Given the description of an element on the screen output the (x, y) to click on. 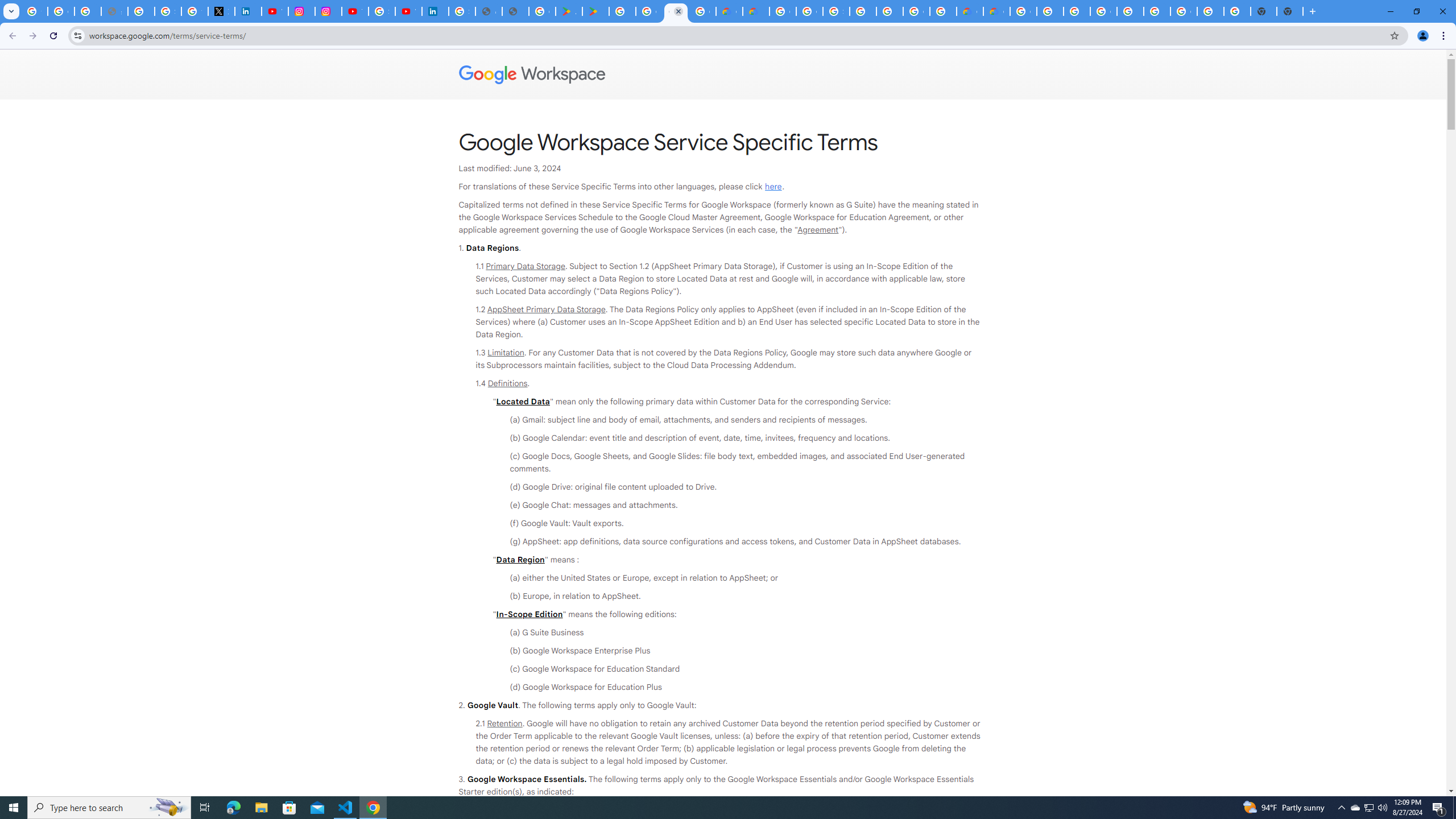
Google Cloud Platform (782, 11)
Google Cloud Estimate Summary (996, 11)
X (221, 11)
Customer Care | Google Cloud (729, 11)
PAW Patrol Rescue World - Apps on Google Play (595, 11)
here (772, 186)
